Given the description of an element on the screen output the (x, y) to click on. 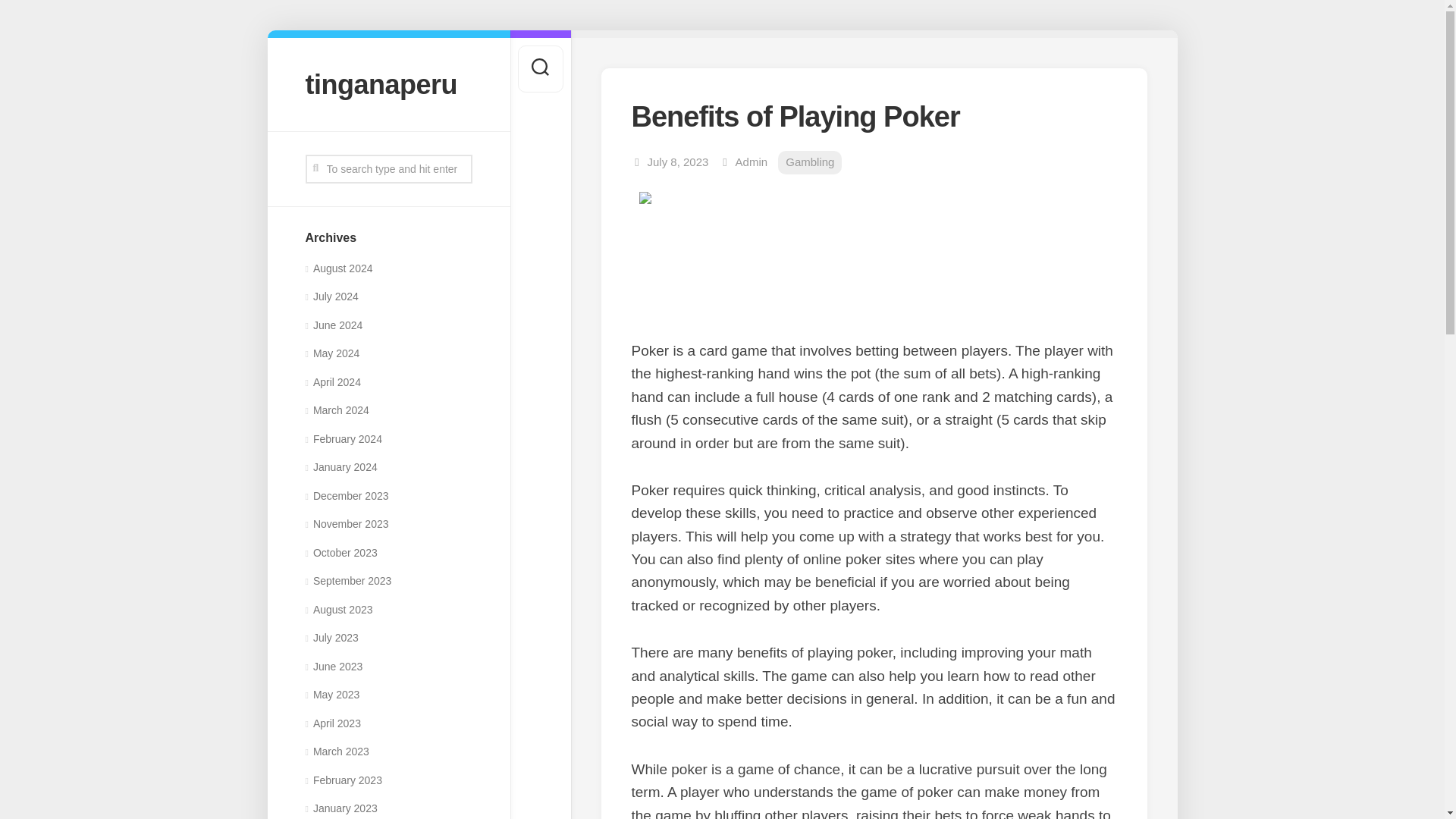
Admin (751, 161)
August 2023 (338, 609)
May 2024 (331, 353)
December 2023 (346, 495)
To search type and hit enter (387, 168)
February 2023 (342, 779)
April 2024 (331, 381)
August 2024 (338, 268)
April 2023 (331, 723)
October 2023 (340, 552)
